Given the description of an element on the screen output the (x, y) to click on. 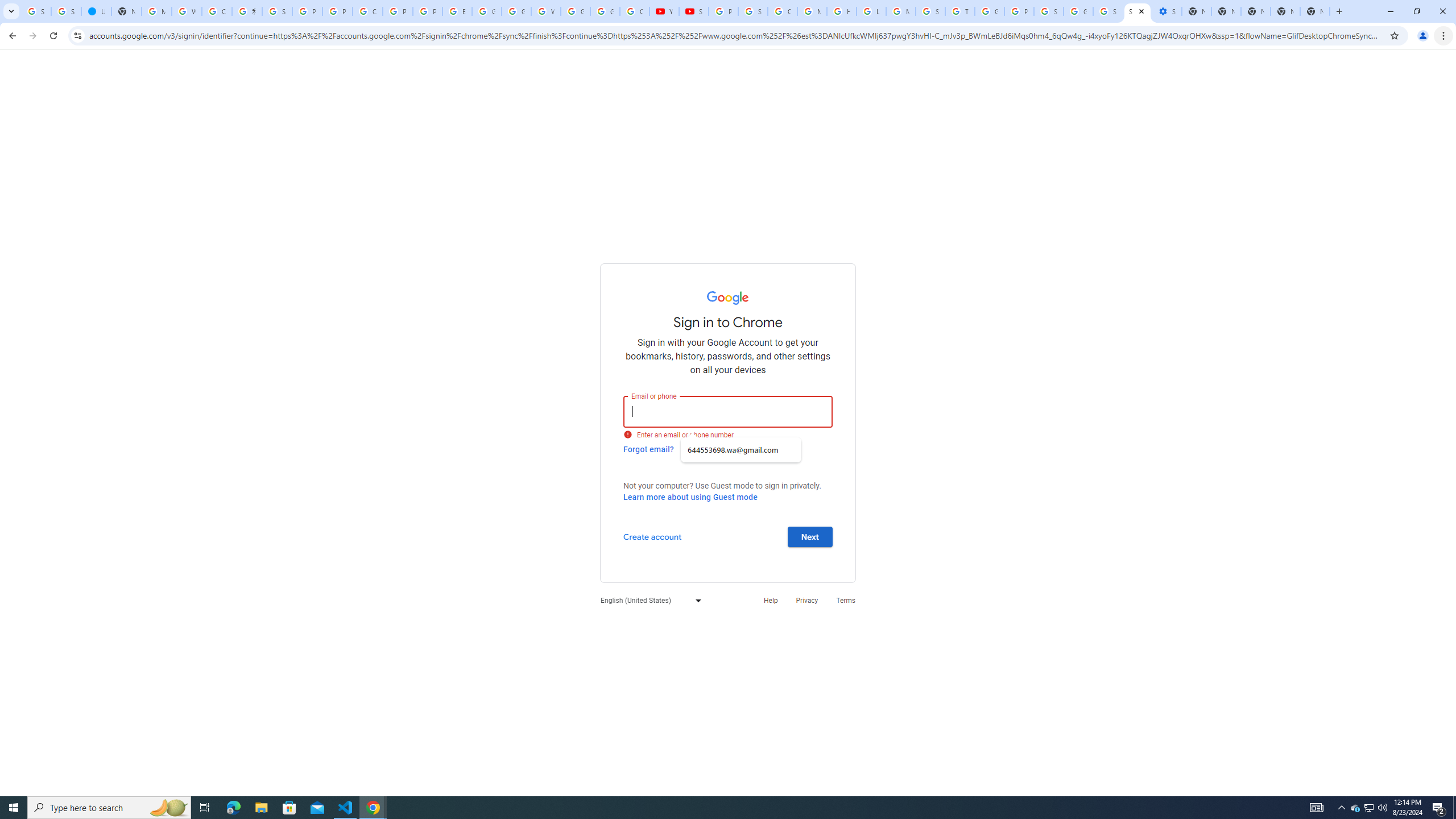
Search our Doodle Library Collection - Google Doodles (930, 11)
Learn more about using Guest mode (689, 497)
Google Cybersecurity Innovations - Google Safety Center (1077, 11)
Settings - Performance (1166, 11)
